Given the description of an element on the screen output the (x, y) to click on. 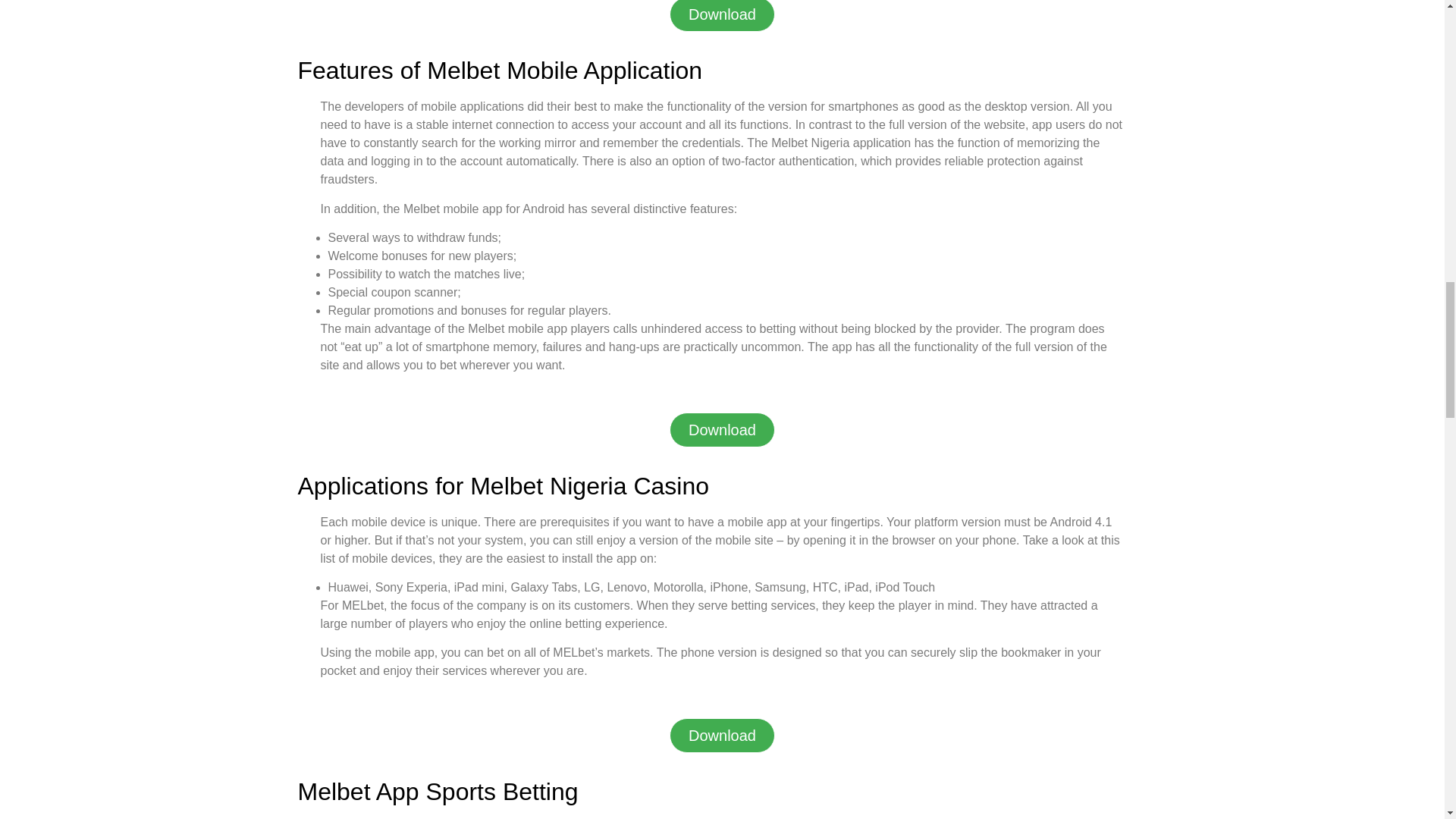
Download (721, 429)
Download (721, 735)
Download (721, 15)
